Given the description of an element on the screen output the (x, y) to click on. 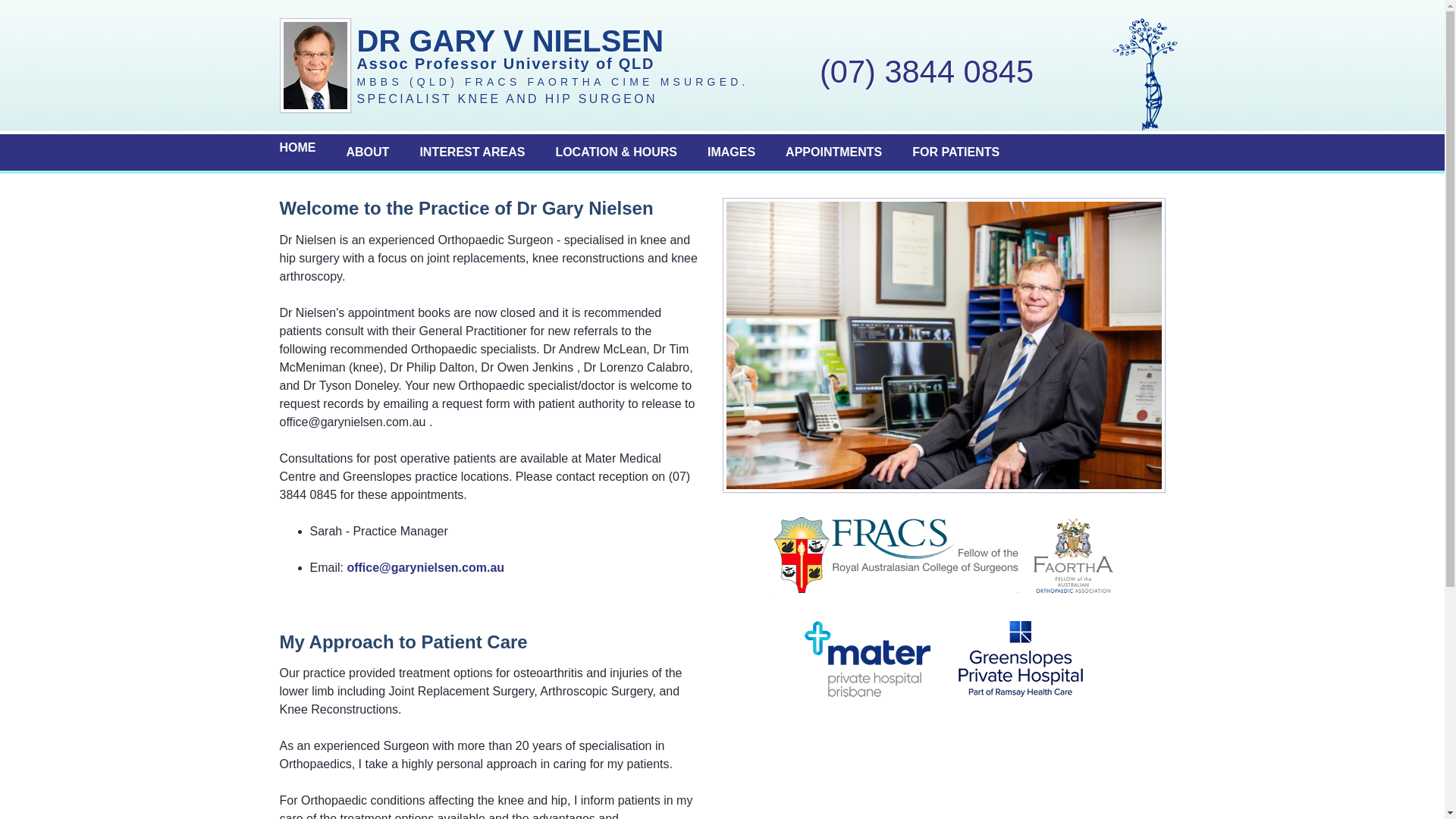
IMAGES Element type: text (731, 152)
HOME Element type: text (297, 148)
FOR PATIENTS Element type: text (955, 152)
ABOUT Element type: text (367, 152)
APPOINTMENTS Element type: text (833, 152)
office@garynielsen.com.au Element type: text (425, 567)
(07) 3844 0845 Element type: text (926, 71)
LOCATION & HOURS Element type: text (616, 152)
INTEREST AREAS Element type: text (471, 152)
